Given the description of an element on the screen output the (x, y) to click on. 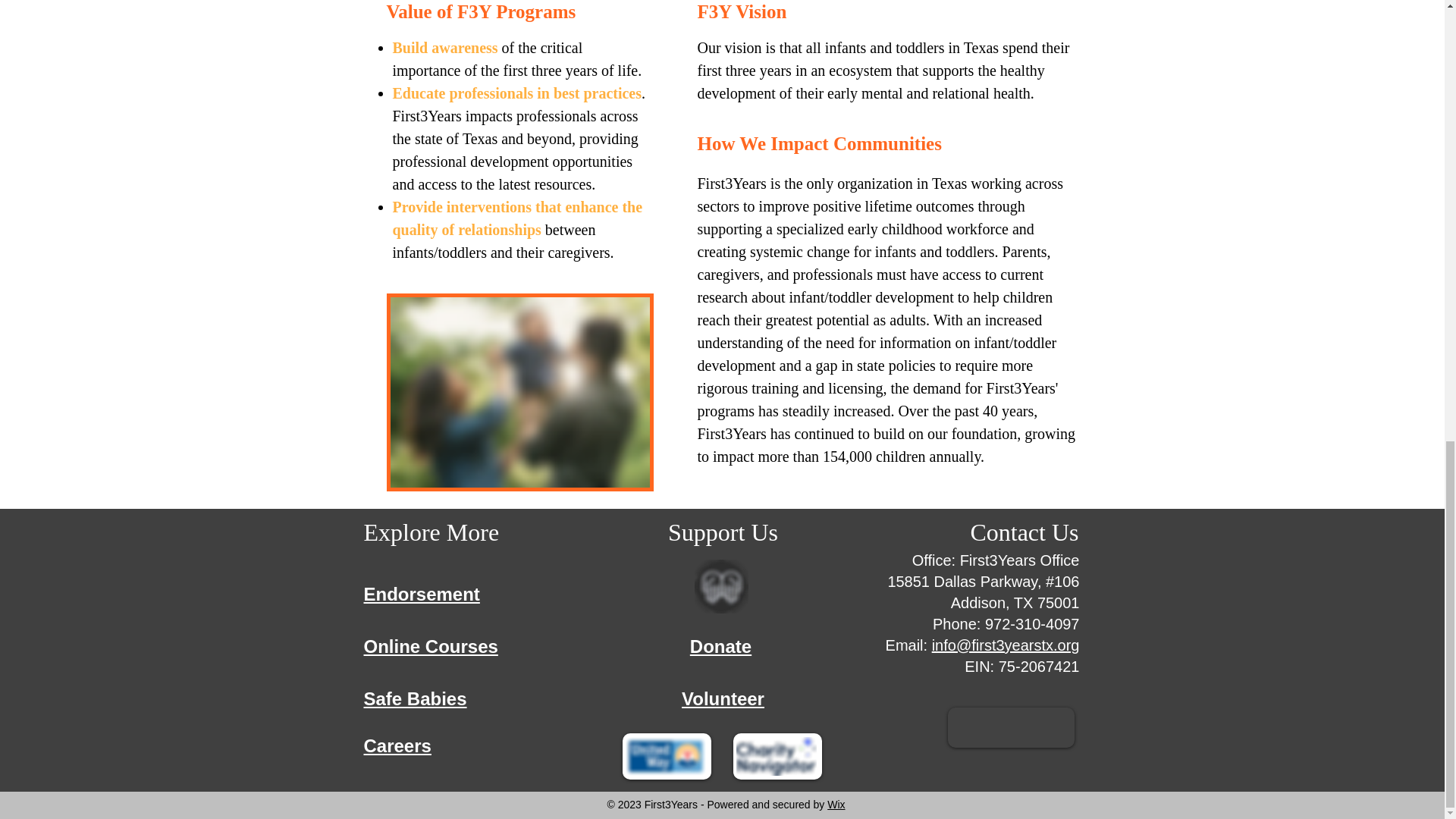
Wix (835, 804)
Safe Babies (415, 699)
Donate (720, 646)
Careers (397, 745)
Volunteer (722, 699)
Endorsement (422, 594)
Online Courses (430, 646)
